Given the description of an element on the screen output the (x, y) to click on. 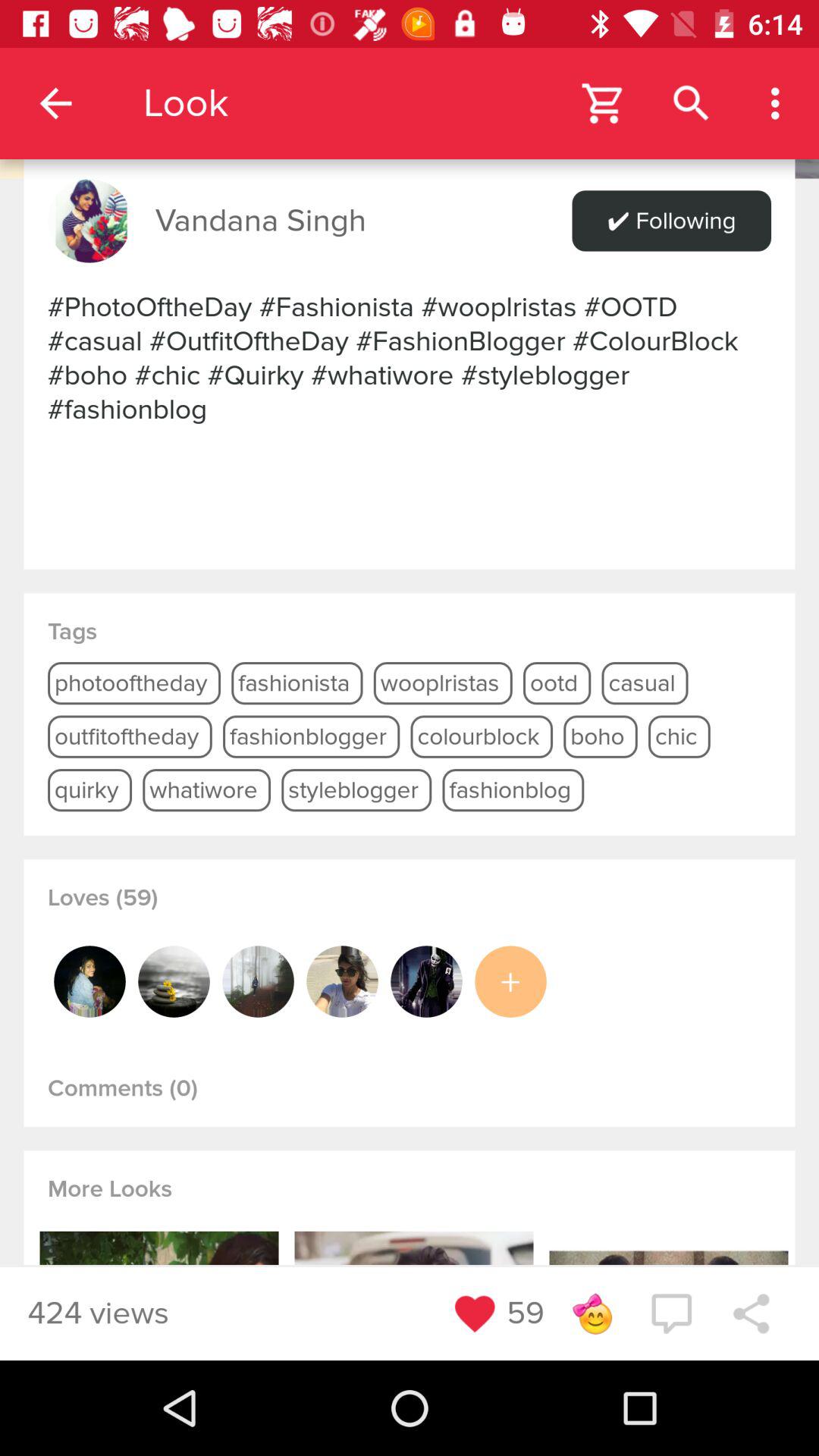
turn off the photooftheday fashionista wooplristas (409, 358)
